Given the description of an element on the screen output the (x, y) to click on. 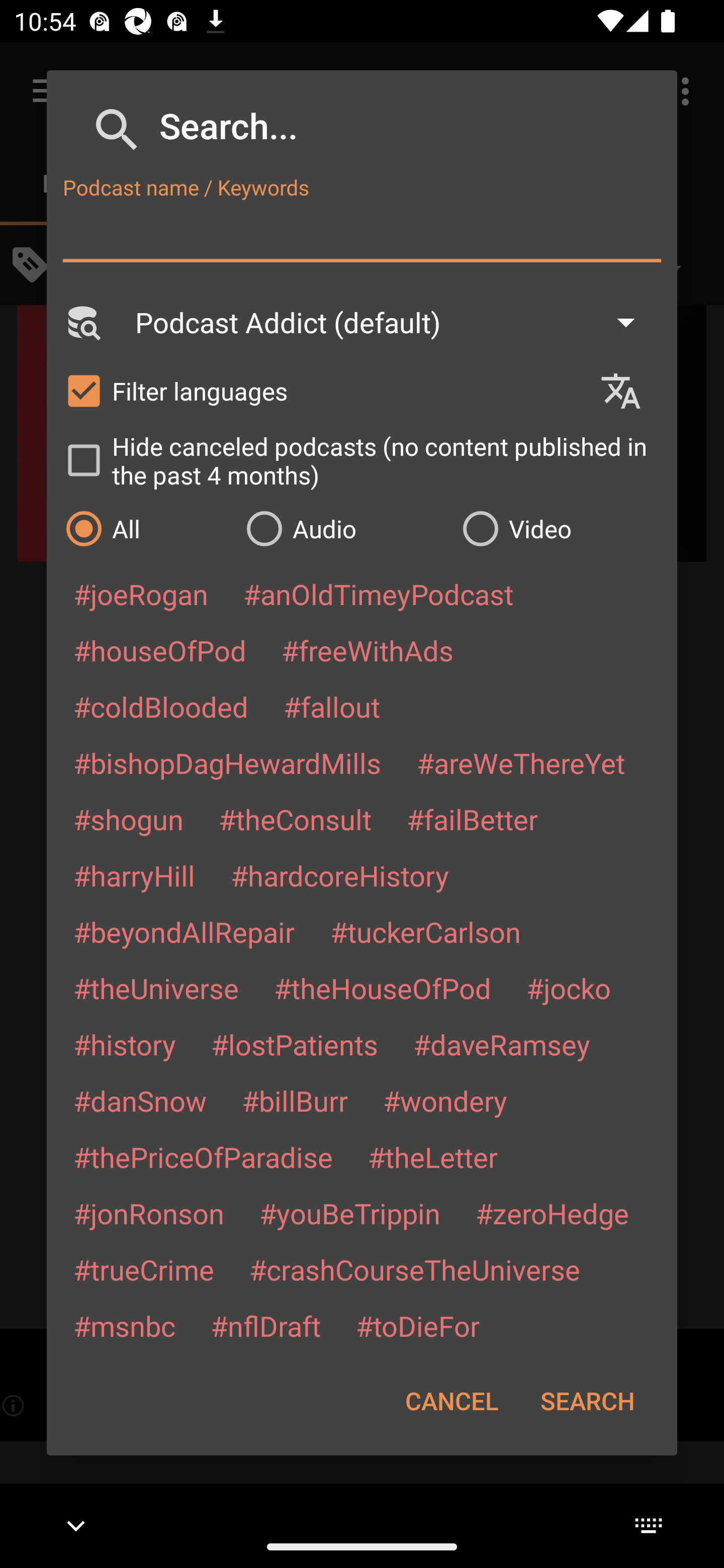
Podcast name / Keywords (361, 234)
Search Engine (82, 322)
Podcast Addict (default) (394, 322)
Languages selection (629, 390)
Filter languages (322, 390)
All (145, 528)
Audio (344, 528)
Video (560, 528)
#joeRogan (140, 594)
#anOldTimeyPodcast (378, 594)
#houseOfPod (159, 650)
#freeWithAds (367, 650)
#coldBlooded (160, 705)
#fallout (331, 705)
#bishopDagHewardMills (227, 762)
#areWeThereYet (521, 762)
#shogun (128, 818)
#theConsult (294, 818)
#failBetter (471, 818)
#harryHill (134, 875)
#hardcoreHistory (339, 875)
#beyondAllRepair (184, 931)
#tuckerCarlson (425, 931)
#theUniverse (155, 987)
#theHouseOfPod (381, 987)
#jocko (568, 987)
#history (124, 1044)
#lostPatients (294, 1044)
#daveRamsey (501, 1044)
#danSnow (139, 1100)
#billBurr (294, 1100)
#wondery (444, 1100)
#thePriceOfParadise (203, 1157)
#theLetter (432, 1157)
#jonRonson (148, 1213)
#youBeTrippin (349, 1213)
#zeroHedge (552, 1213)
#trueCrime (143, 1268)
#crashCourseTheUniverse (414, 1268)
#msnbc (124, 1325)
#nflDraft (265, 1325)
#toDieFor (417, 1325)
CANCEL (451, 1400)
SEARCH (587, 1400)
